Given the description of an element on the screen output the (x, y) to click on. 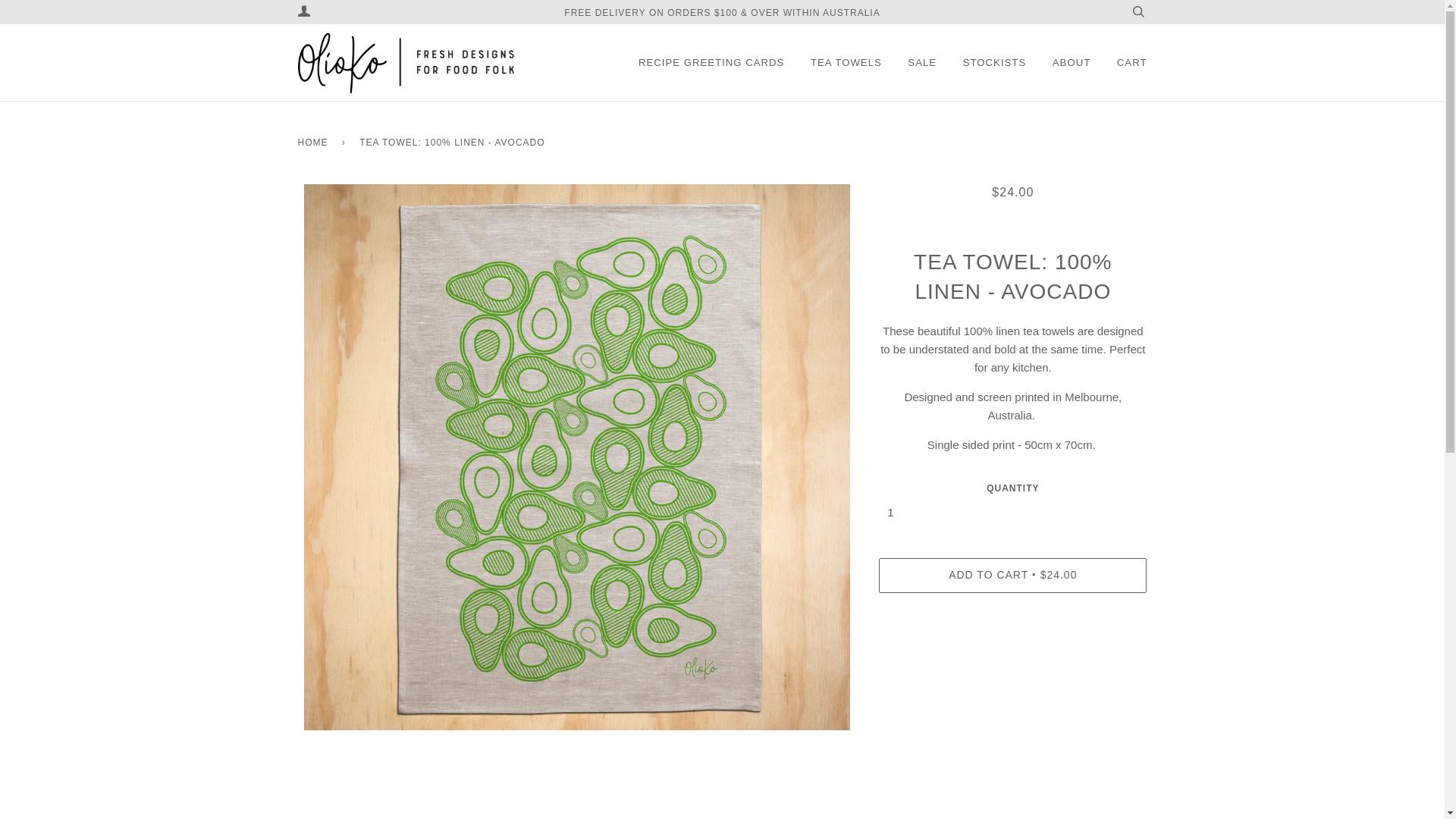
RECIPE GREETING CARDS Element type: text (711, 62)
CART Element type: text (1132, 62)
HOME Element type: text (314, 142)
SALE Element type: text (921, 62)
ABOUT Element type: text (1071, 62)
TEA TOWELS Element type: text (845, 62)
STOCKISTS Element type: text (994, 62)
